Given the description of an element on the screen output the (x, y) to click on. 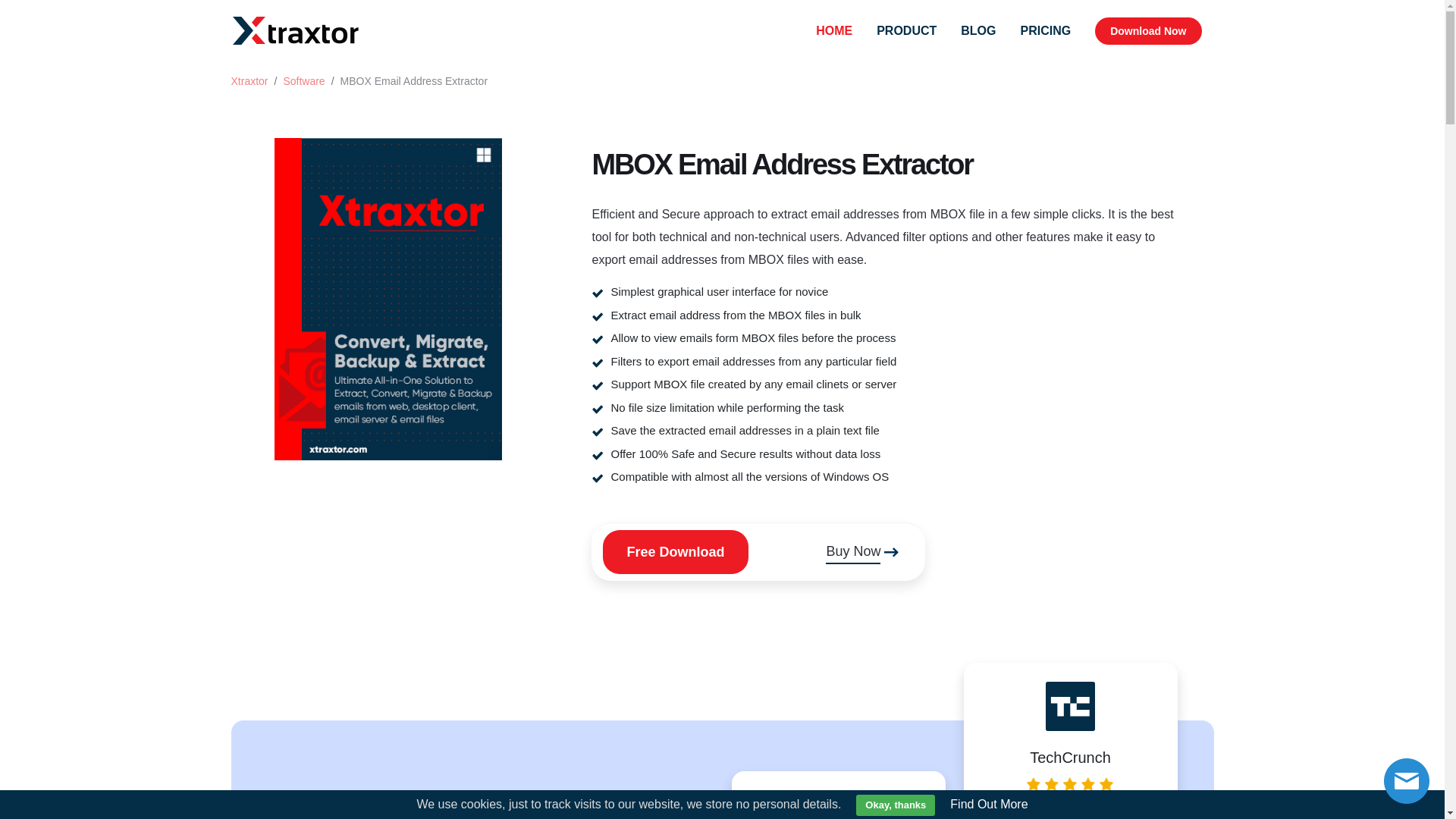
Download Now (1147, 30)
Live chat offline (1406, 780)
BLOG (978, 30)
Software (303, 80)
HOME (833, 30)
Buy Now (864, 551)
Free Download (675, 551)
Xtraxtor (248, 80)
PRODUCT (906, 30)
PRICING (1046, 30)
